Given the description of an element on the screen output the (x, y) to click on. 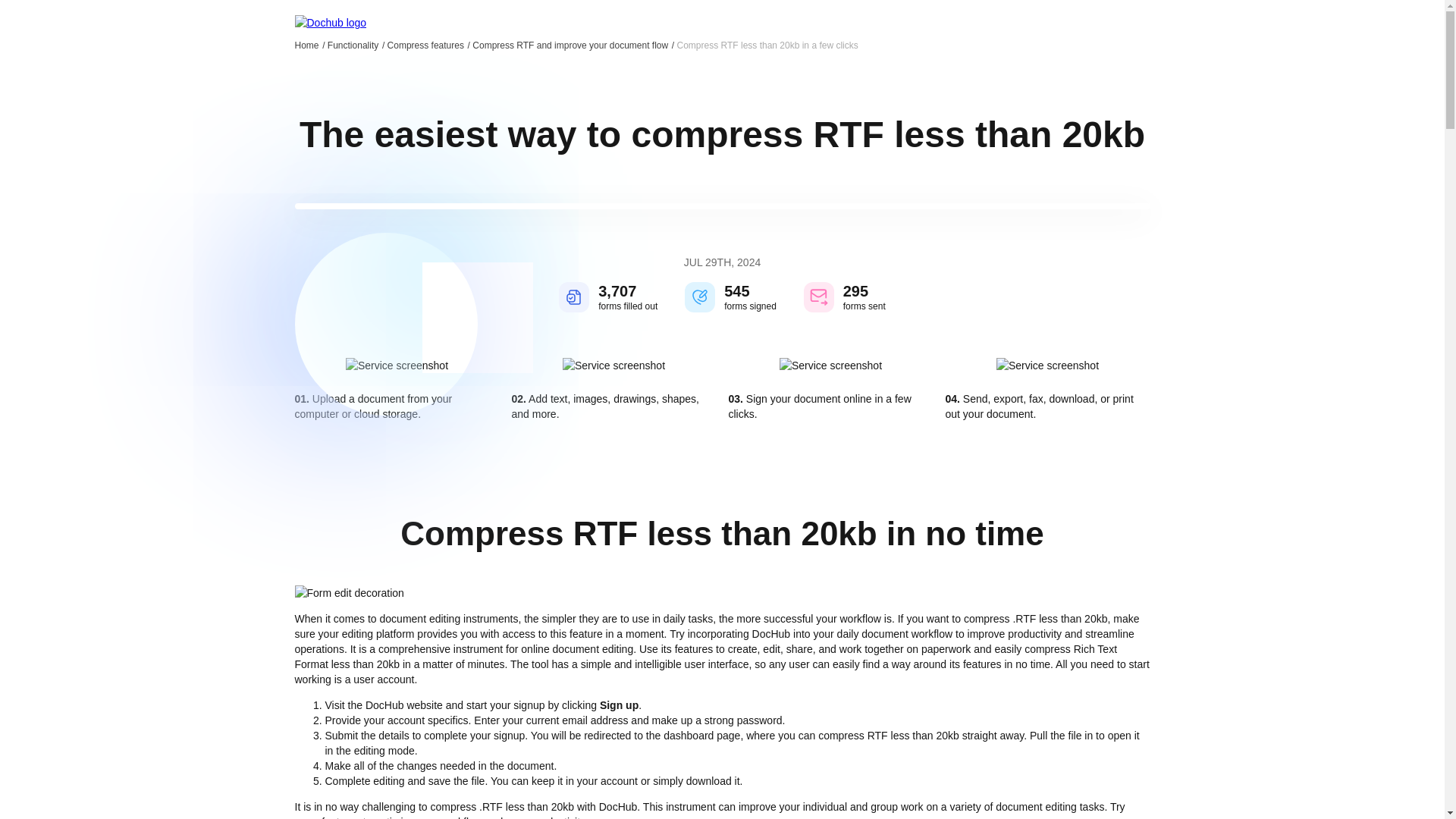
Compress features (428, 45)
Compress RTF and improve your document flow (572, 45)
Functionality (355, 45)
Home (309, 45)
